Given the description of an element on the screen output the (x, y) to click on. 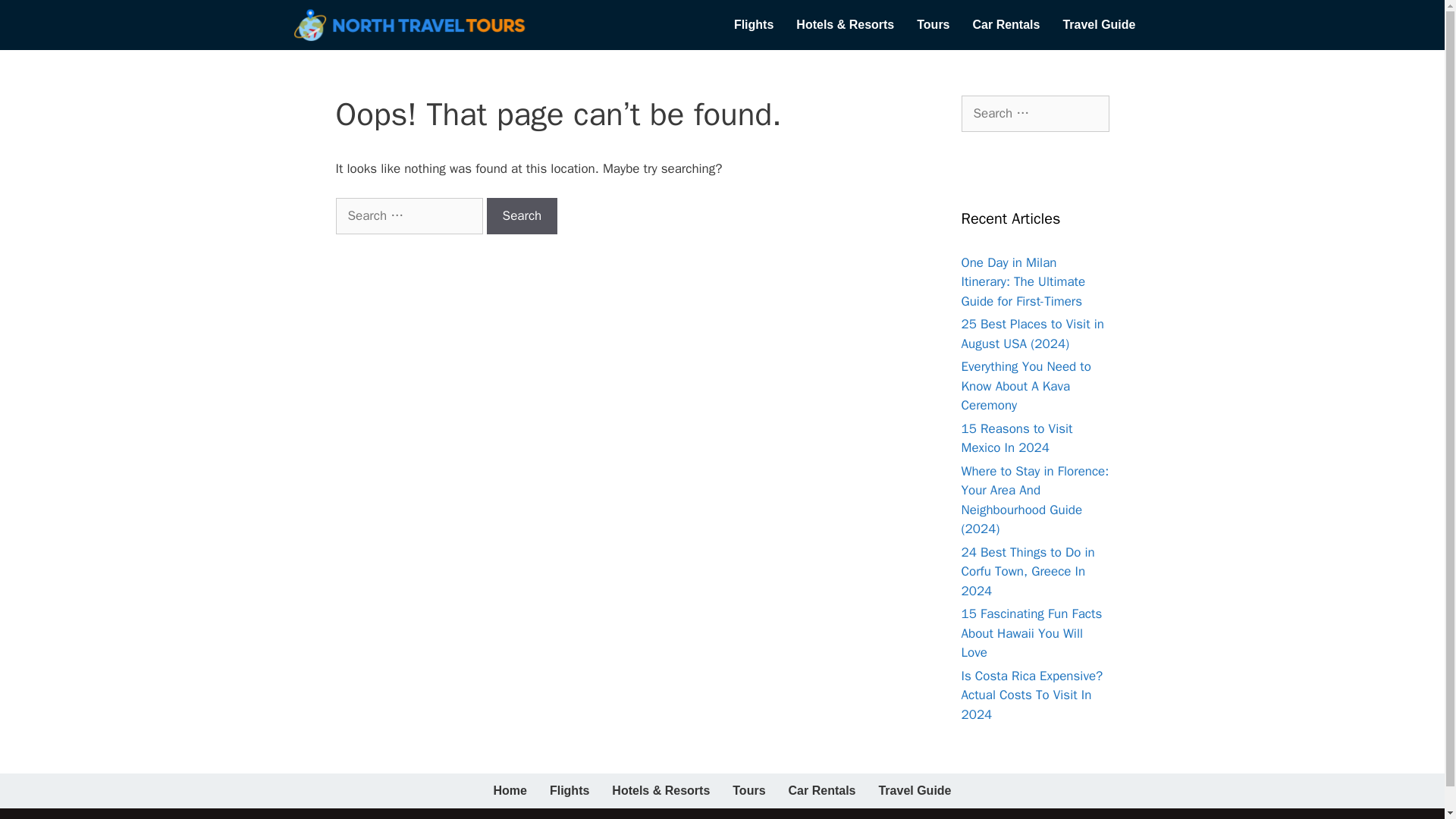
Travel Guide (914, 790)
Tours (748, 790)
Search (521, 216)
Car Rentals (1005, 24)
Terms Of Use (1093, 815)
Everything You Need to Know About A Kava Ceremony (1025, 385)
15 Fascinating Fun Facts About Hawaii You Will Love (1031, 633)
Flights (568, 790)
Is Costa Rica Expensive? Actual Costs To Visit In 2024 (1031, 694)
Flights (753, 24)
Search (35, 18)
Tours (932, 24)
Search (521, 216)
Search (521, 216)
